Given the description of an element on the screen output the (x, y) to click on. 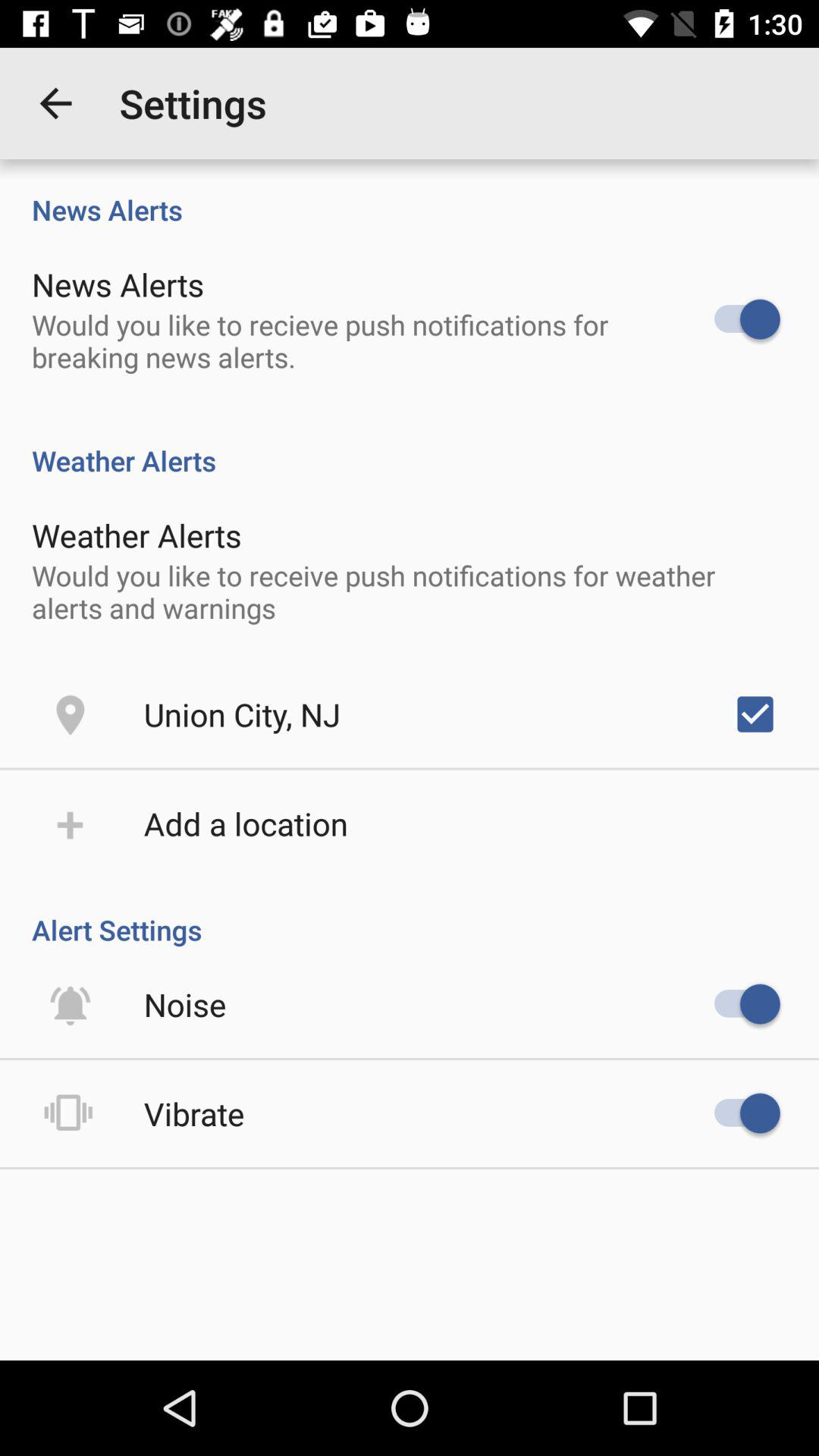
choose the item below would you like icon (241, 713)
